Given the description of an element on the screen output the (x, y) to click on. 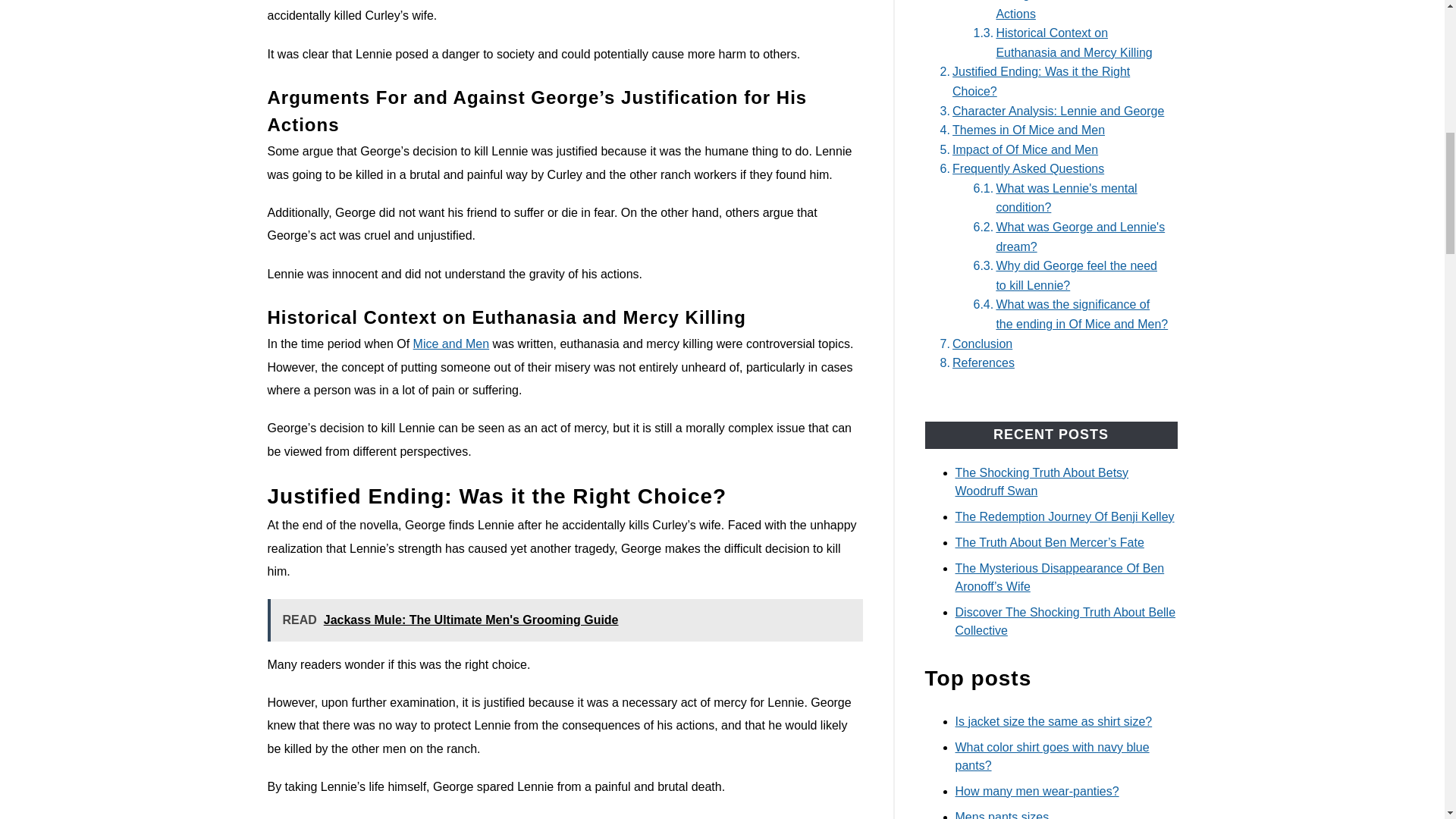
References (973, 362)
Themes in Of Mice and Men (1019, 130)
Why did George feel the need to kill Lennie? (1068, 275)
What was Lennie's mental condition? (1068, 198)
What was the significance of the ending in Of Mice and Men? (1068, 313)
Impact of Of Mice and Men (1016, 149)
READ  Jackass Mule: The Ultimate Men's Grooming Guide (563, 619)
Frequently Asked Questions (1019, 168)
What was George and Lennie's dream? (1068, 236)
Conclusion (973, 343)
Mice and Men (451, 343)
Justified Ending: Was it the Right Choice? (1051, 81)
Historical Context on Euthanasia and Mercy Killing  (1068, 42)
Character Analysis: Lennie and George (1048, 111)
